Given the description of an element on the screen output the (x, y) to click on. 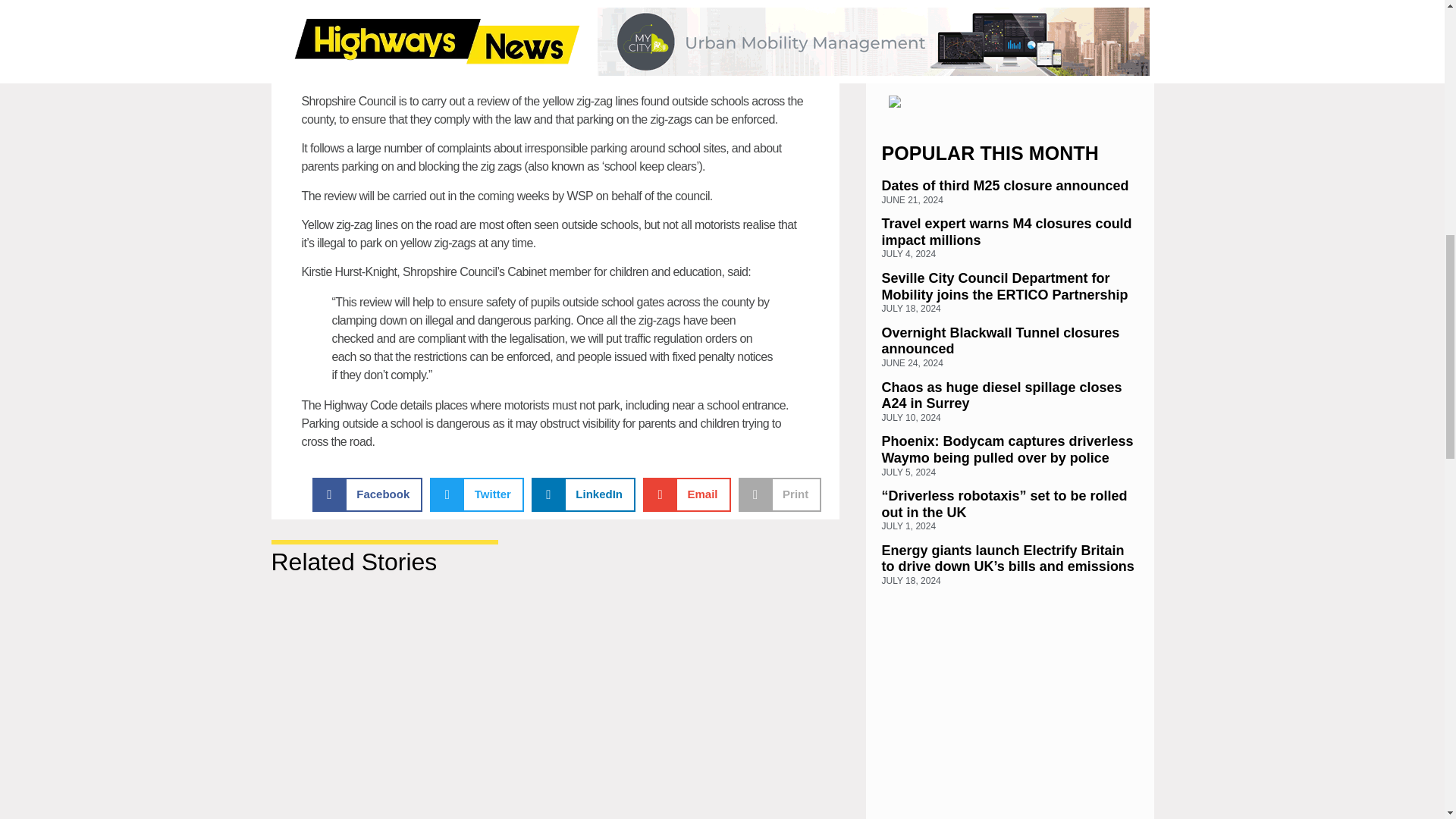
LOCAL GOVERNMENT (553, 47)
SAFETY (692, 47)
MAINTENANCE (638, 47)
INFRASTRUCTURE (461, 47)
